Given the description of an element on the screen output the (x, y) to click on. 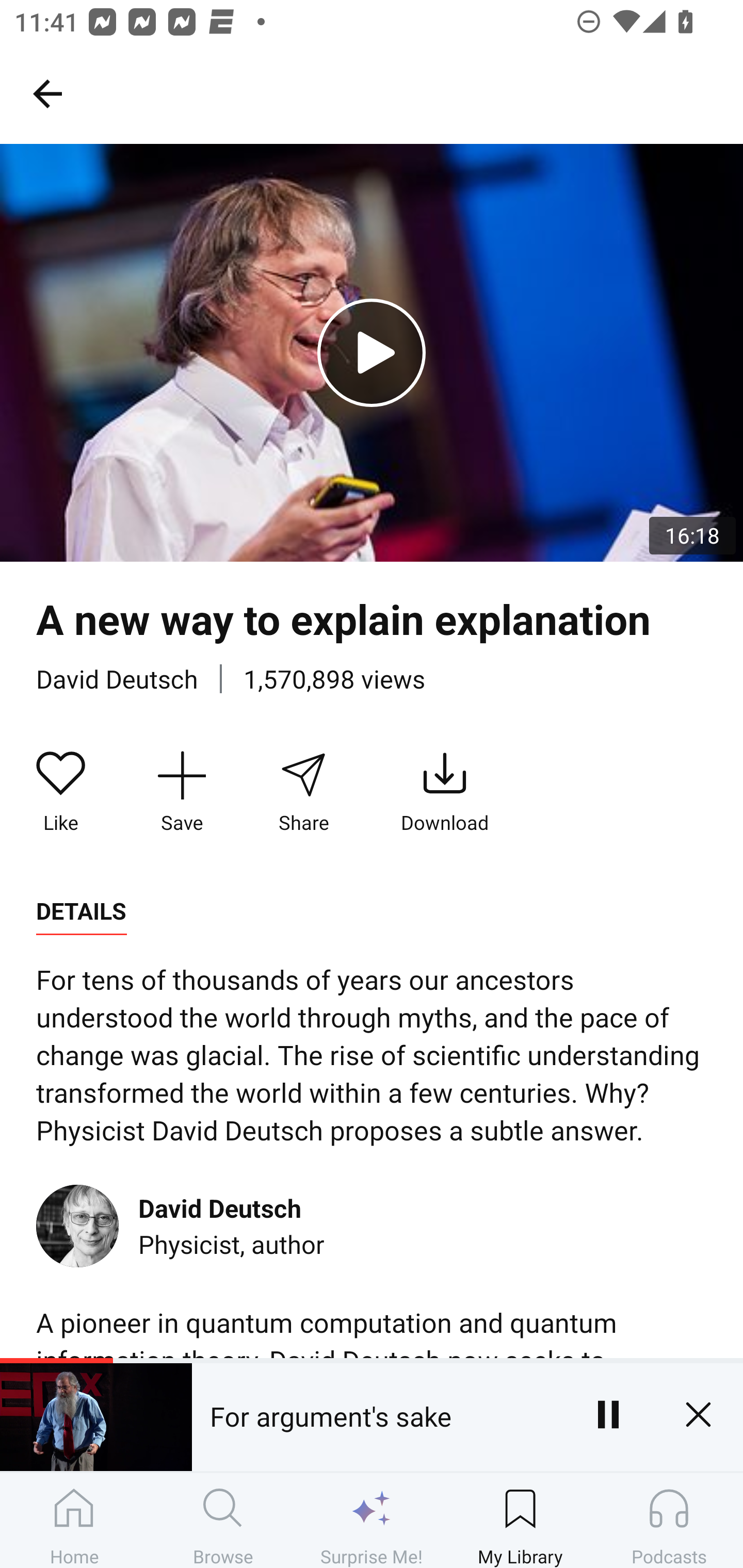
Go back (47, 92)
Like (60, 793)
Save (181, 793)
Share (302, 793)
Download (444, 793)
DETAILS (80, 911)
For argument's sake (377, 1413)
Home (74, 1520)
Browse (222, 1520)
Surprise Me! (371, 1520)
My Library (519, 1520)
Podcasts (668, 1520)
